Given the description of an element on the screen output the (x, y) to click on. 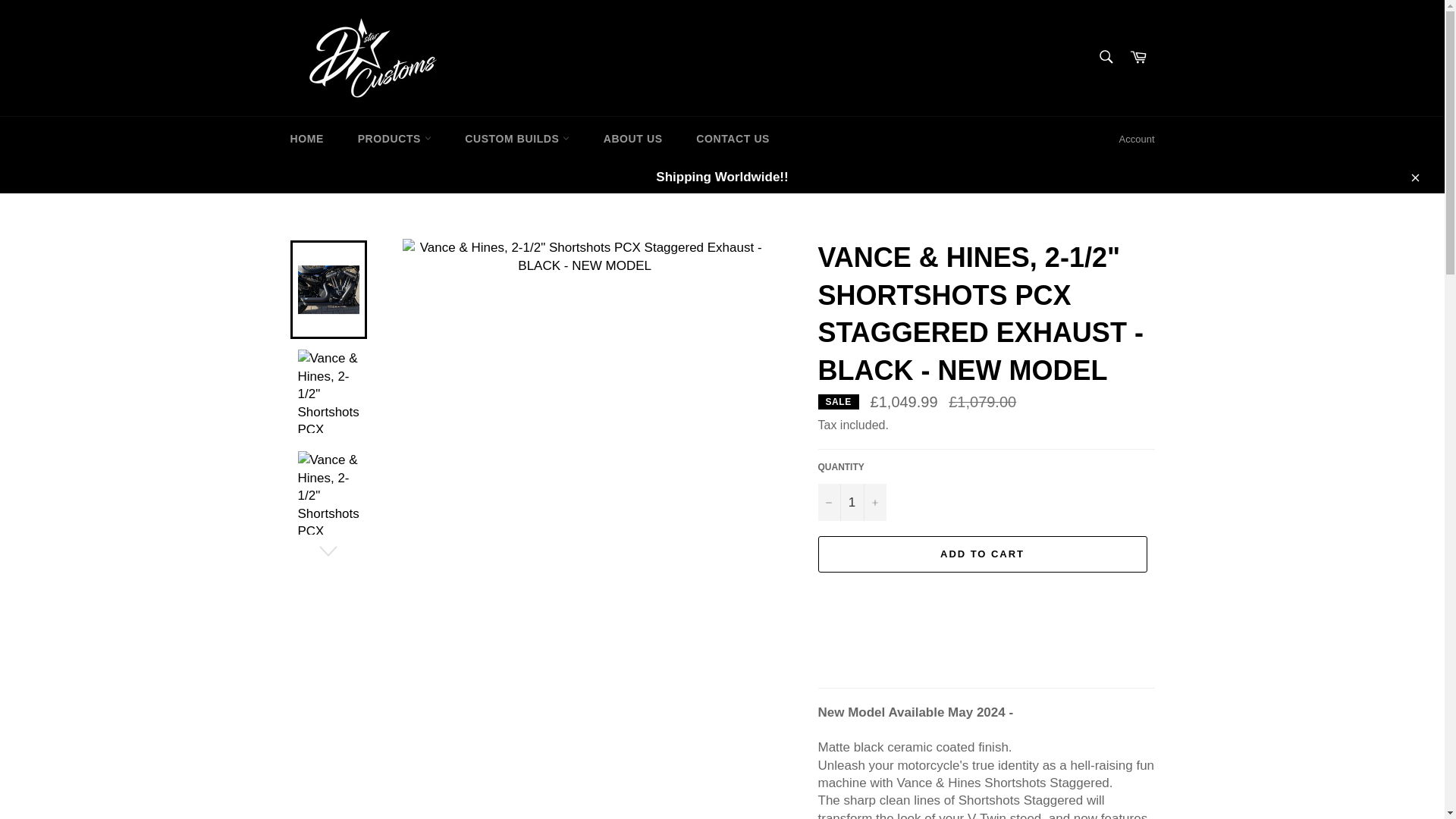
1 (850, 502)
